Given the description of an element on the screen output the (x, y) to click on. 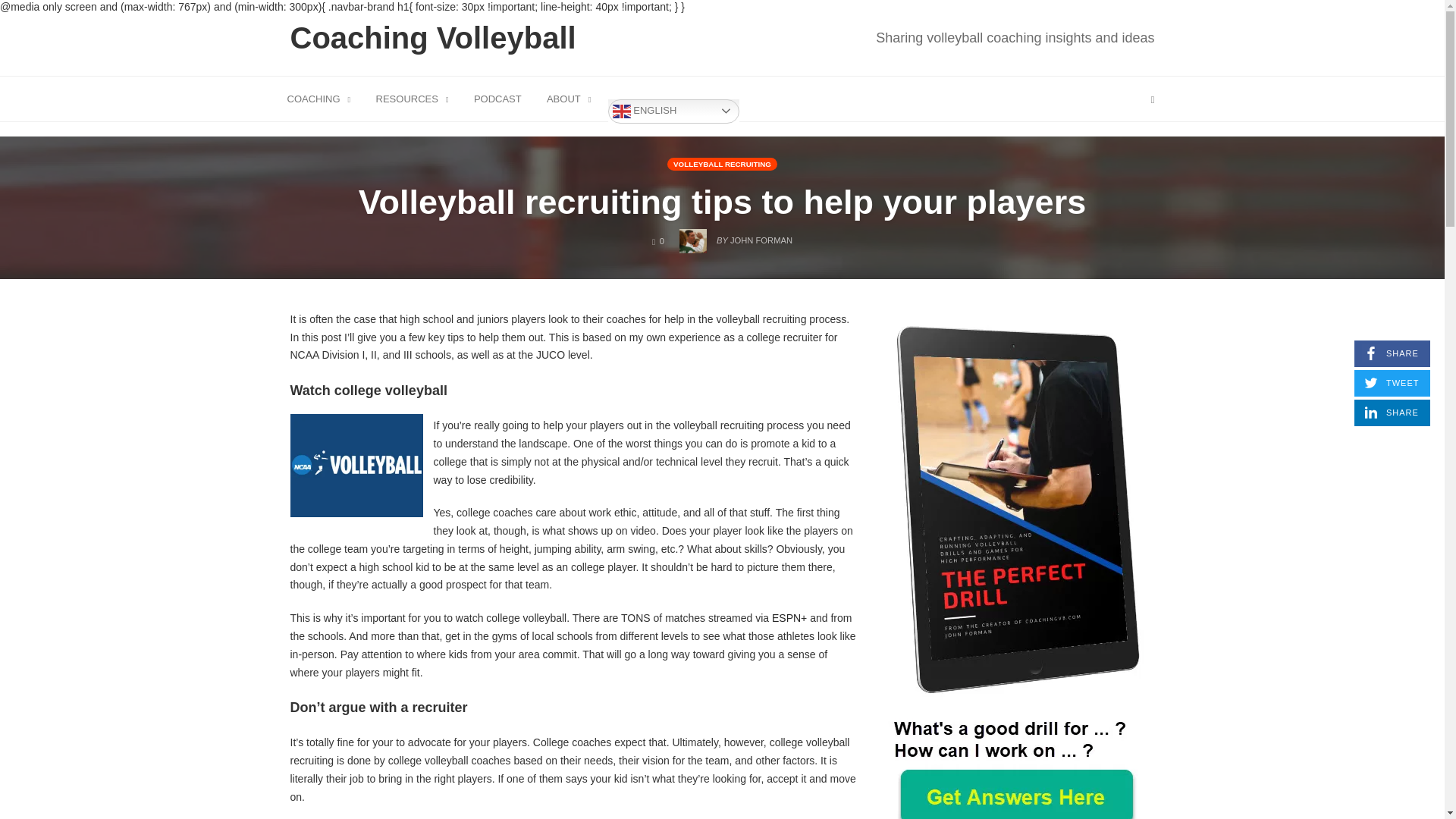
Volleyball Coaching Book, Courses, Product Info, and Reviews (1391, 353)
ENGLISH (1391, 412)
PODCAST (412, 97)
COACHING (673, 110)
Coaching Volleyball (497, 97)
Sharing volleyball coaching insights and ideas (319, 97)
About Coaching Volleyball (433, 37)
RESOURCES (1015, 37)
ABOUT (568, 97)
